Given the description of an element on the screen output the (x, y) to click on. 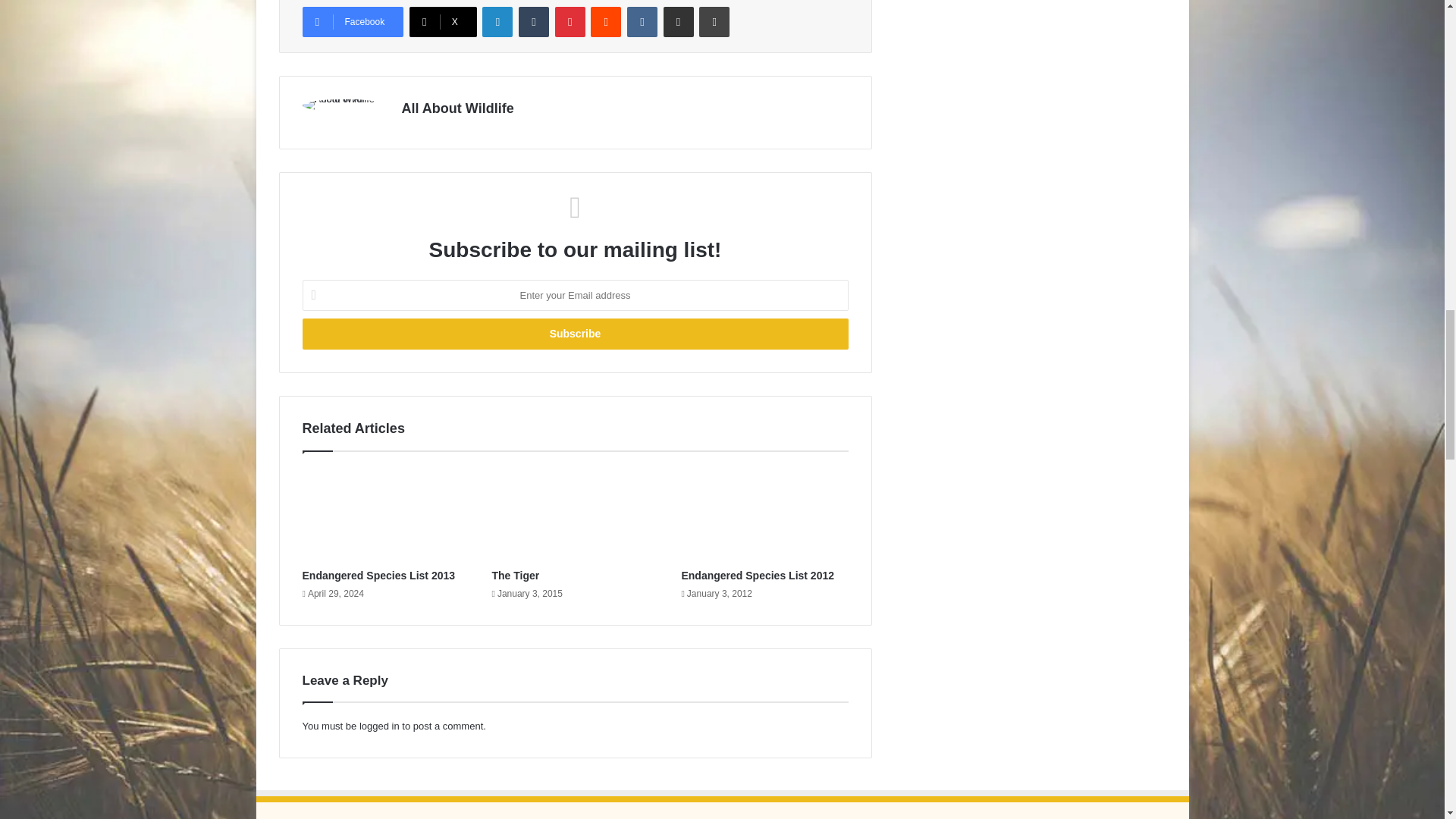
Subscribe (574, 333)
